Given the description of an element on the screen output the (x, y) to click on. 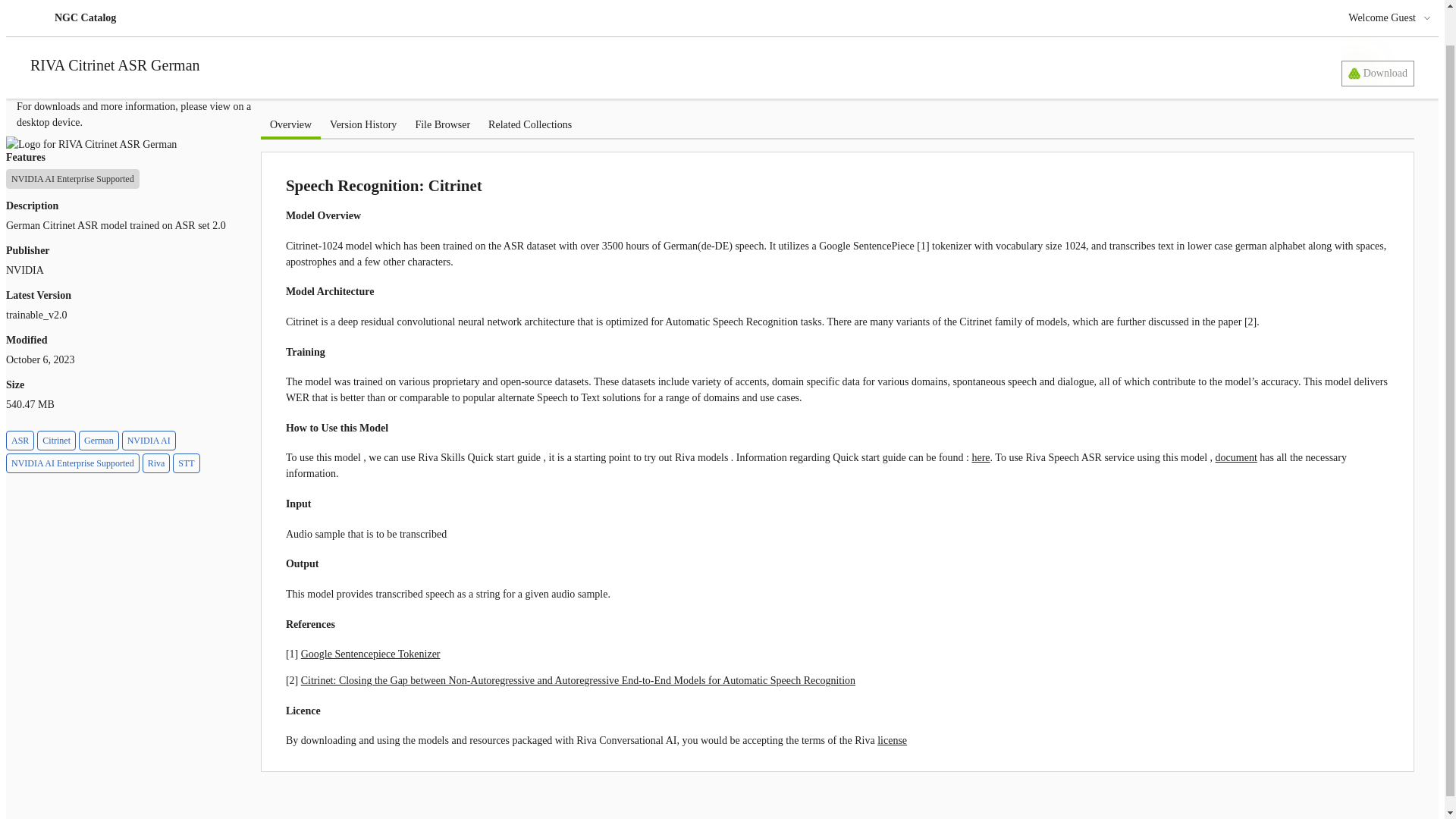
NVIDIA AI Enterprise Supported (72, 178)
German (98, 440)
license (892, 740)
Models (48, 25)
ASR (19, 440)
here (980, 457)
Version History (363, 124)
Related Collections (529, 124)
Riva (156, 463)
STT (186, 463)
Citrinet (56, 440)
Overview (290, 124)
RIVA Citrinet ASR German Logo (90, 144)
document (1236, 457)
